Given the description of an element on the screen output the (x, y) to click on. 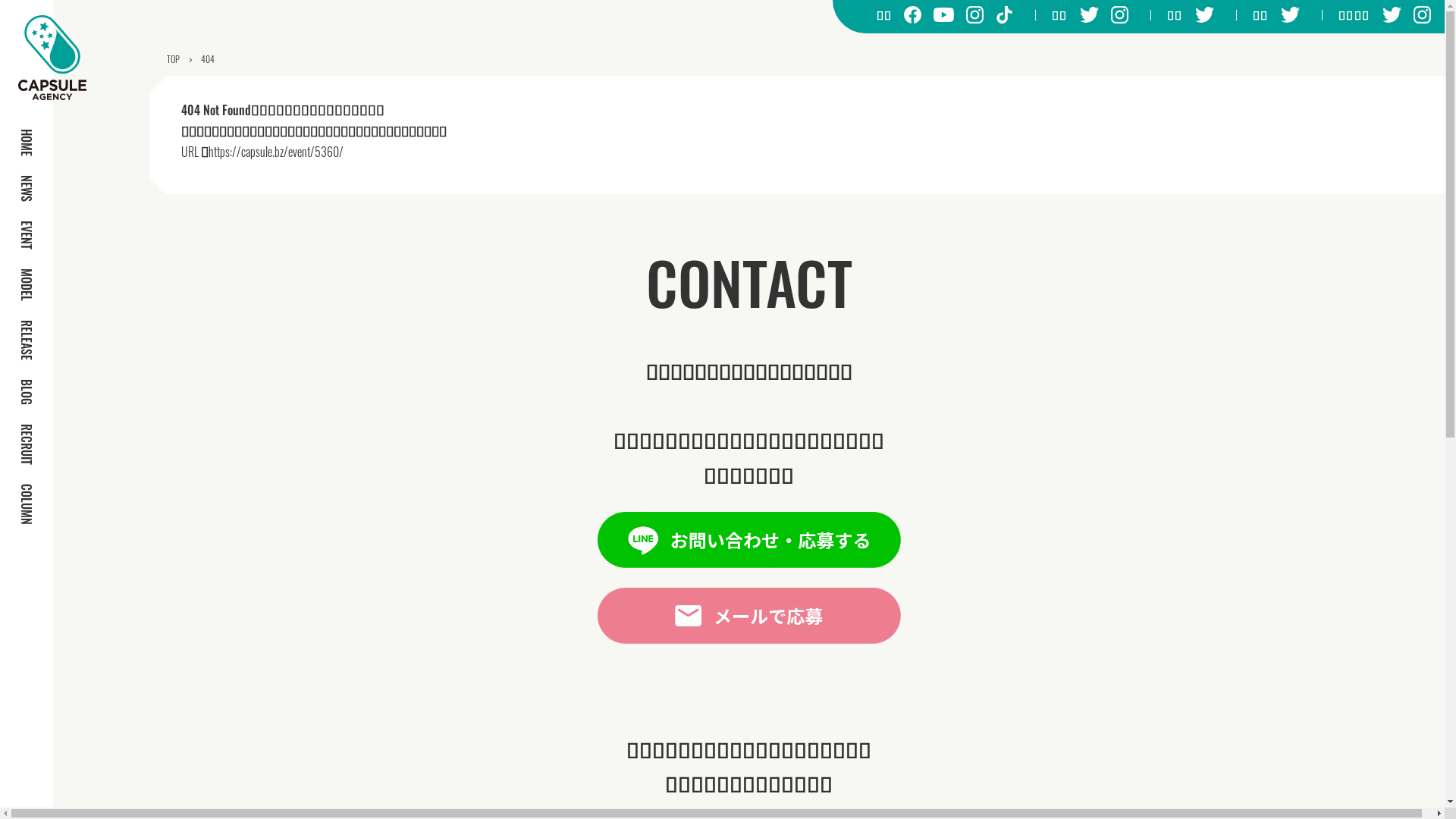
BLOG Element type: text (26, 391)
NEWS Element type: text (26, 188)
RELEASE Element type: text (26, 340)
COLUMN Element type: text (26, 503)
HOME Element type: text (26, 142)
RECRUIT Element type: text (26, 443)
MODEL Element type: text (26, 284)
TOP Element type: text (172, 58)
EVENT Element type: text (26, 234)
